Given the description of an element on the screen output the (x, y) to click on. 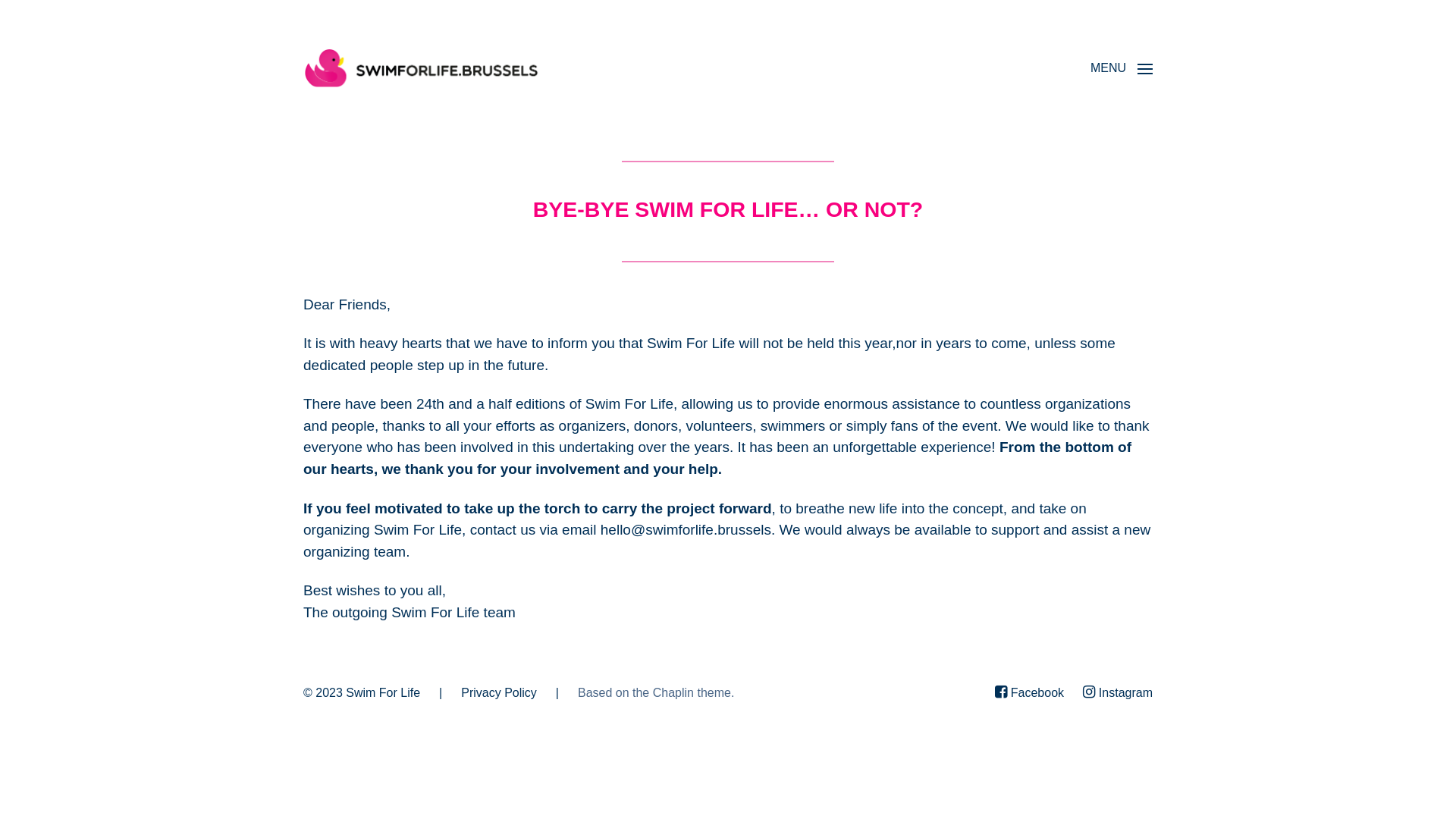
MENU Element type: text (1121, 68)
Chaplin Element type: text (672, 692)
Instagram Element type: text (1117, 692)
Facebook Element type: text (1028, 692)
Swim For Life Element type: text (382, 692)
Privacy Policy Element type: text (498, 692)
